Given the description of an element on the screen output the (x, y) to click on. 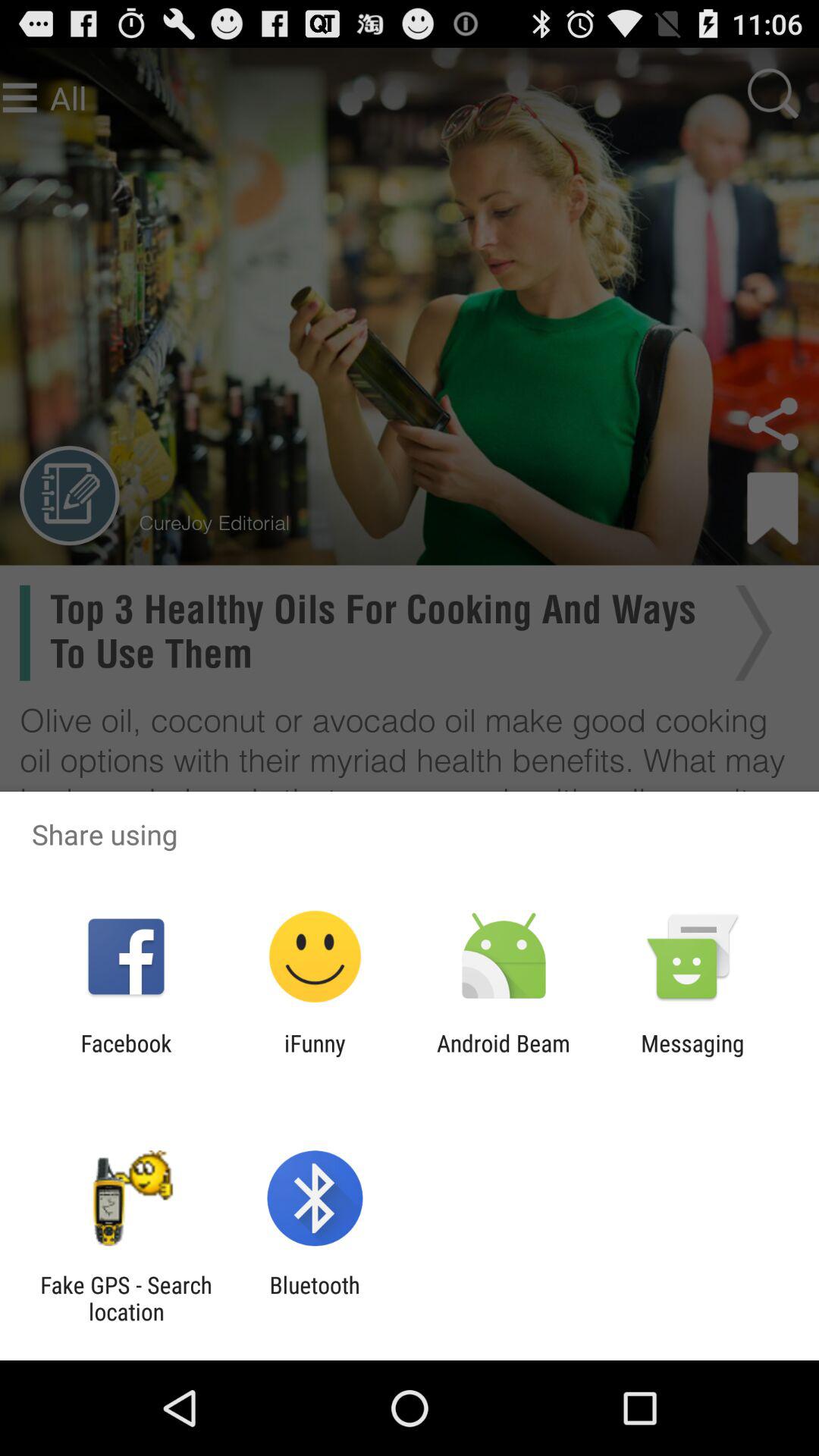
jump until the ifunny item (314, 1056)
